Given the description of an element on the screen output the (x, y) to click on. 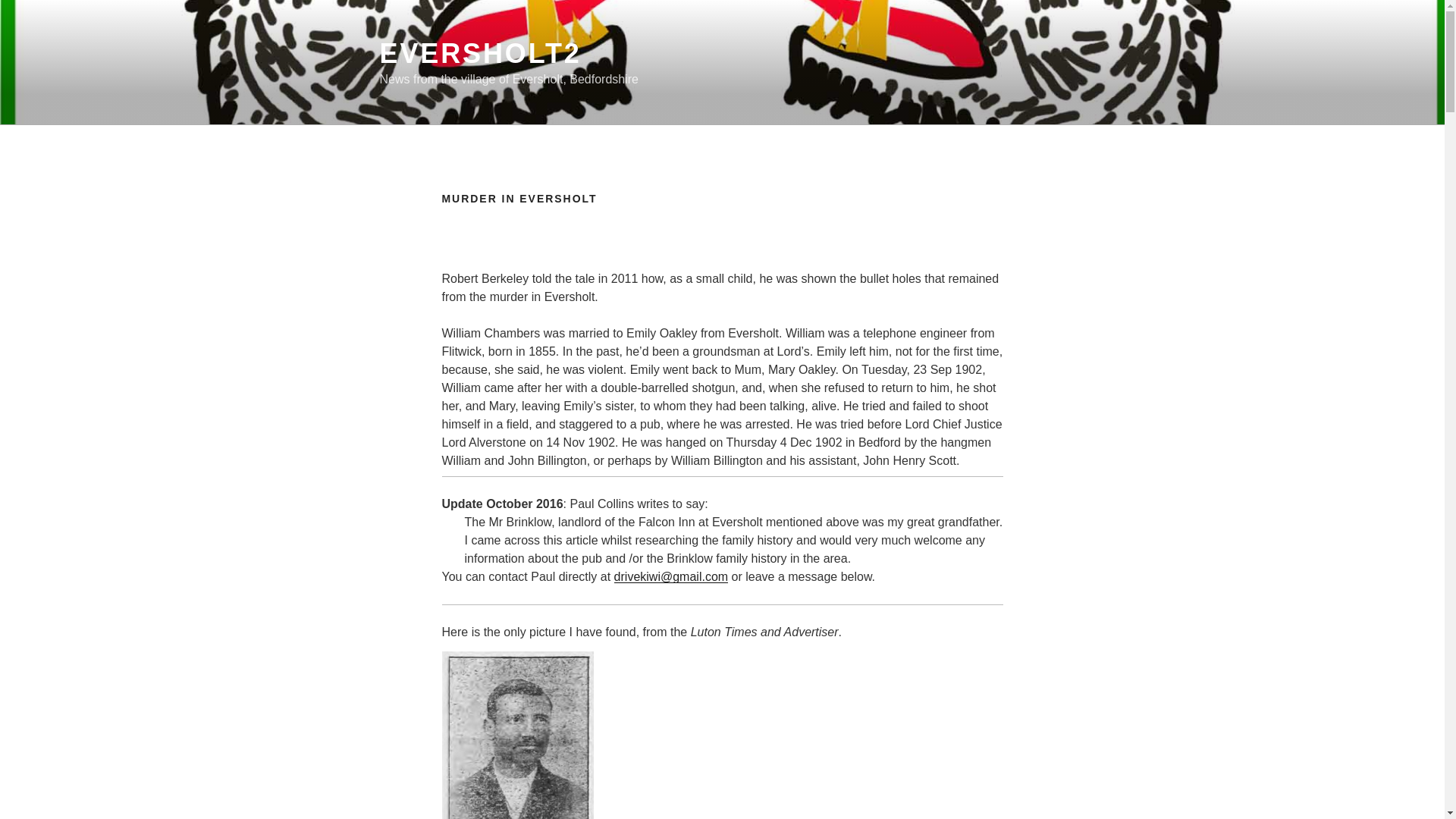
EVERSHOLT2 (479, 52)
